Given the description of an element on the screen output the (x, y) to click on. 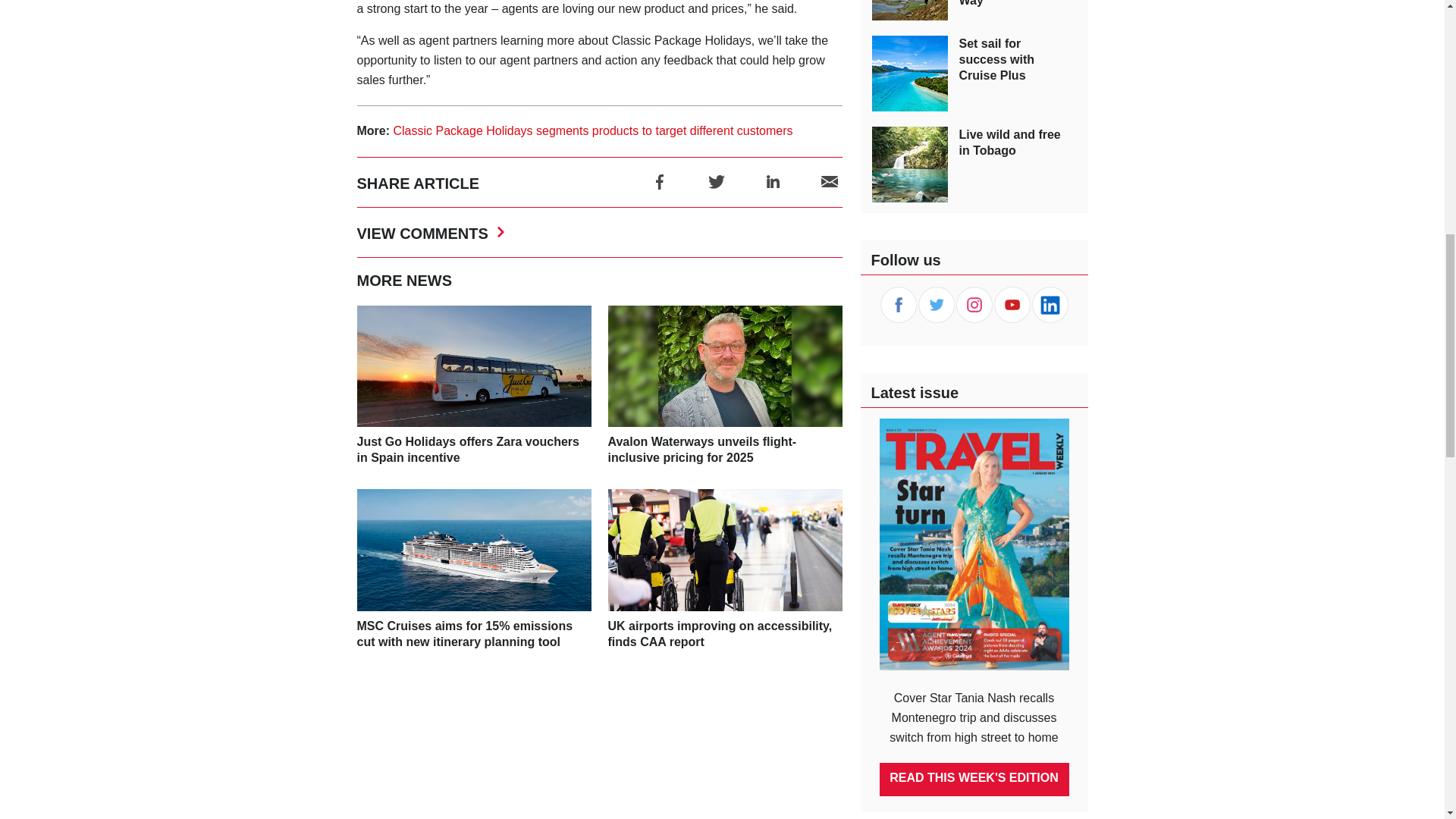
Share on Facebook (659, 181)
Share on LinkedIn (773, 181)
Share on Twitter (716, 181)
